Given the description of an element on the screen output the (x, y) to click on. 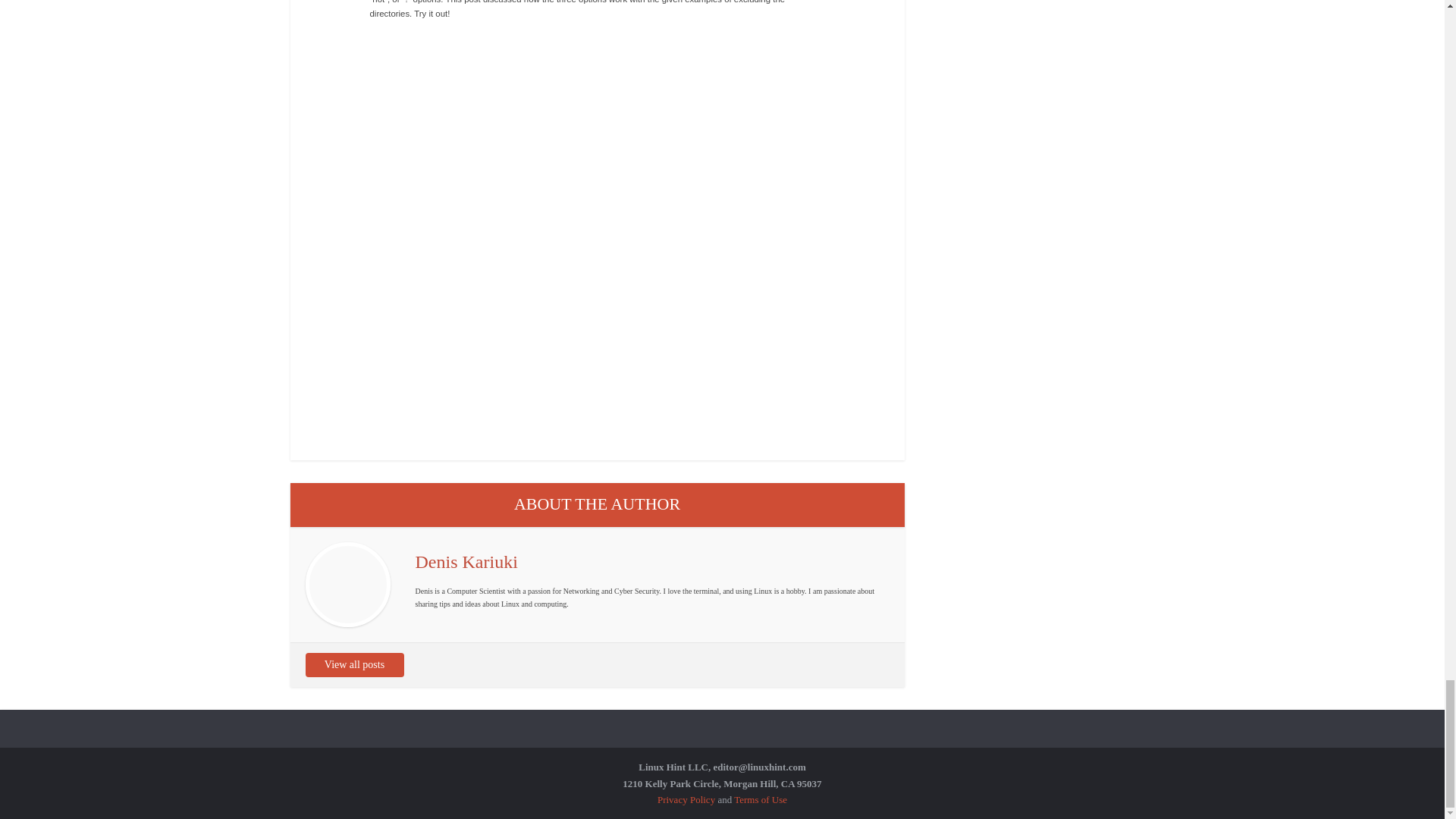
Terms of Use (760, 799)
View all posts (353, 664)
Privacy Policy (686, 799)
